Given the description of an element on the screen output the (x, y) to click on. 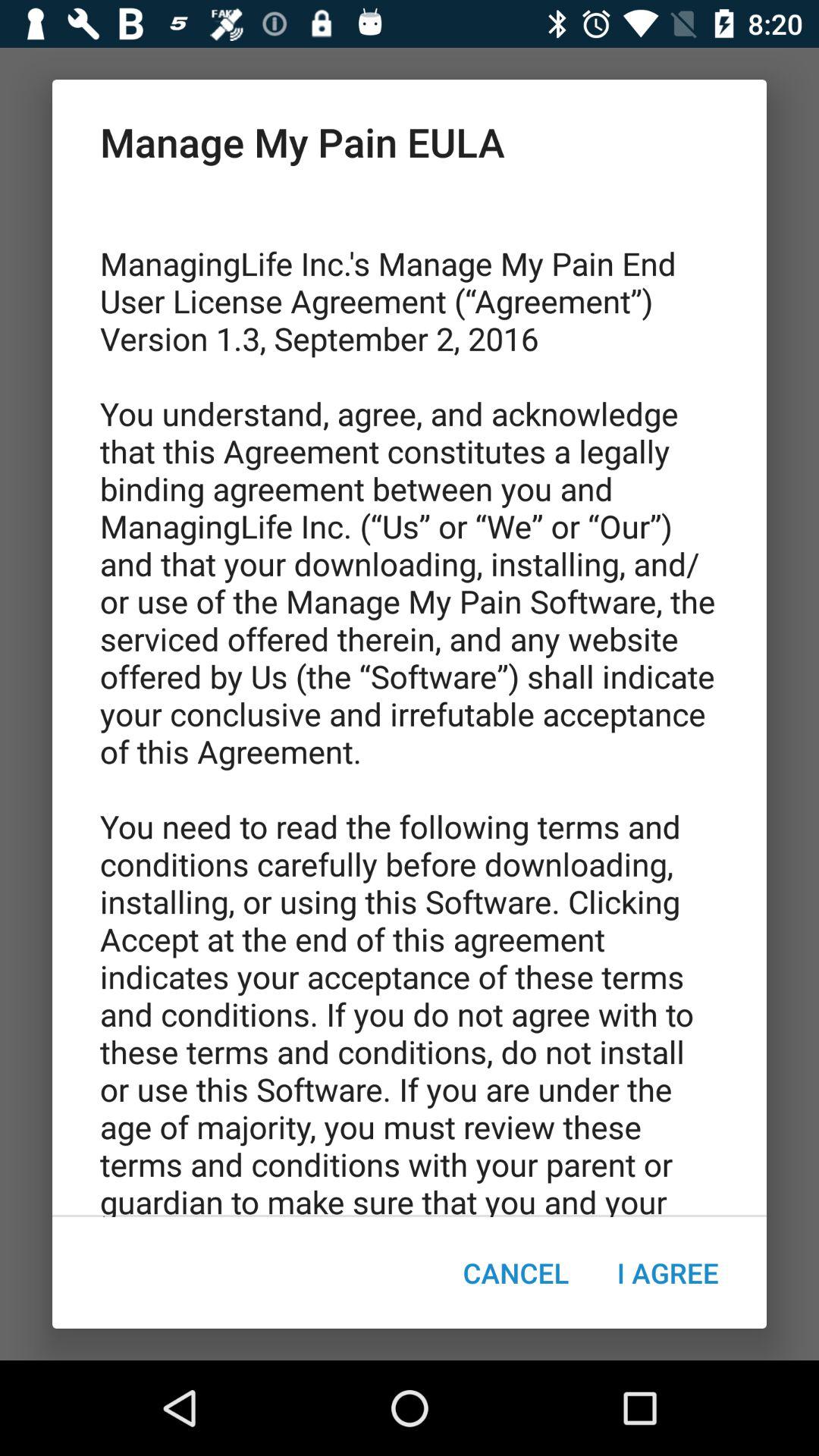
select icon to the right of the cancel item (667, 1272)
